Given the description of an element on the screen output the (x, y) to click on. 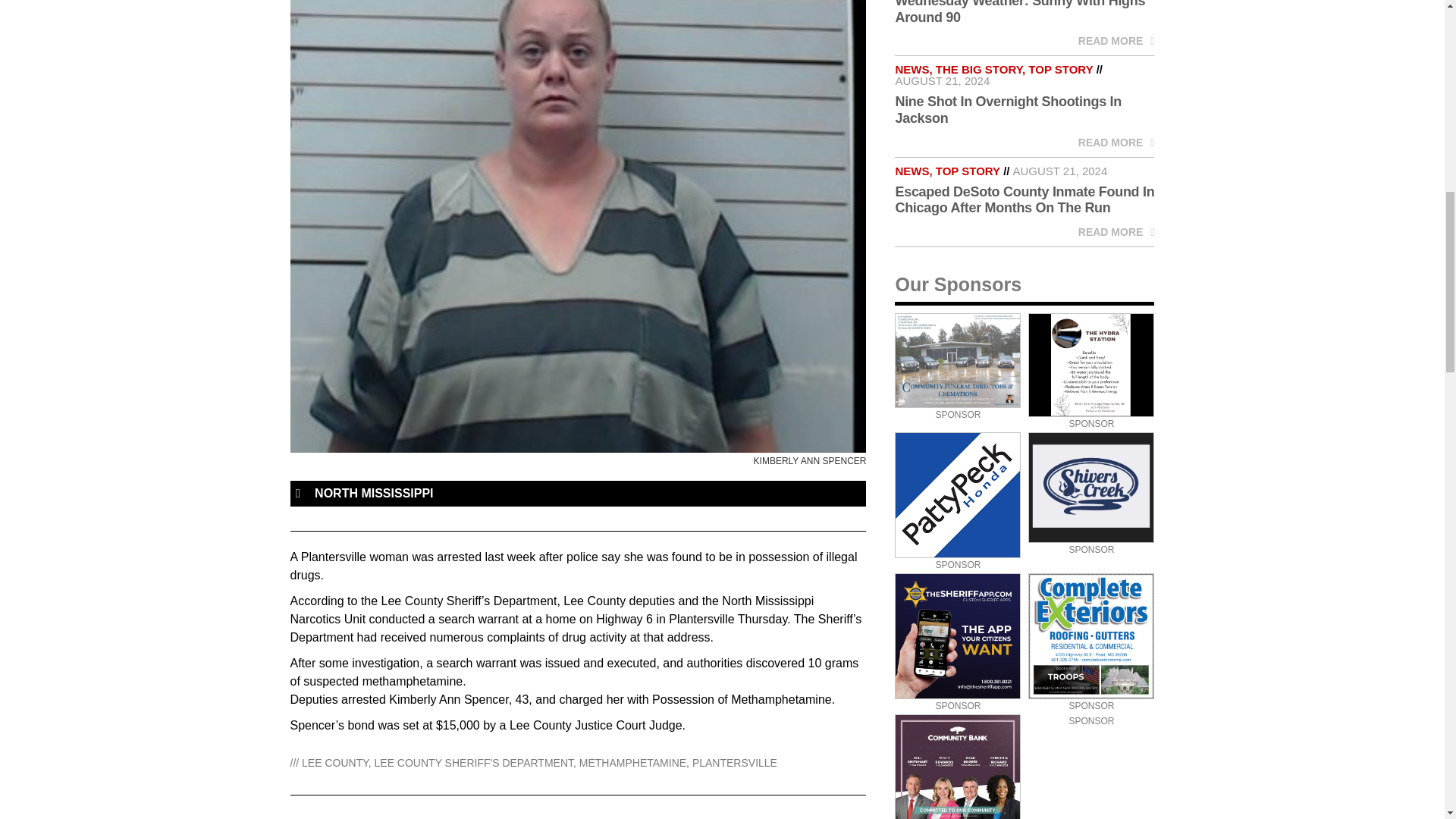
LEE COUNTY (334, 762)
METHAMPHETAMINE (632, 762)
LEE COUNTY SHERIFF'S DEPARTMENT (473, 762)
NORTH MISSISSIPPI (373, 492)
PLANTERSVILLE (735, 762)
